Given the description of an element on the screen output the (x, y) to click on. 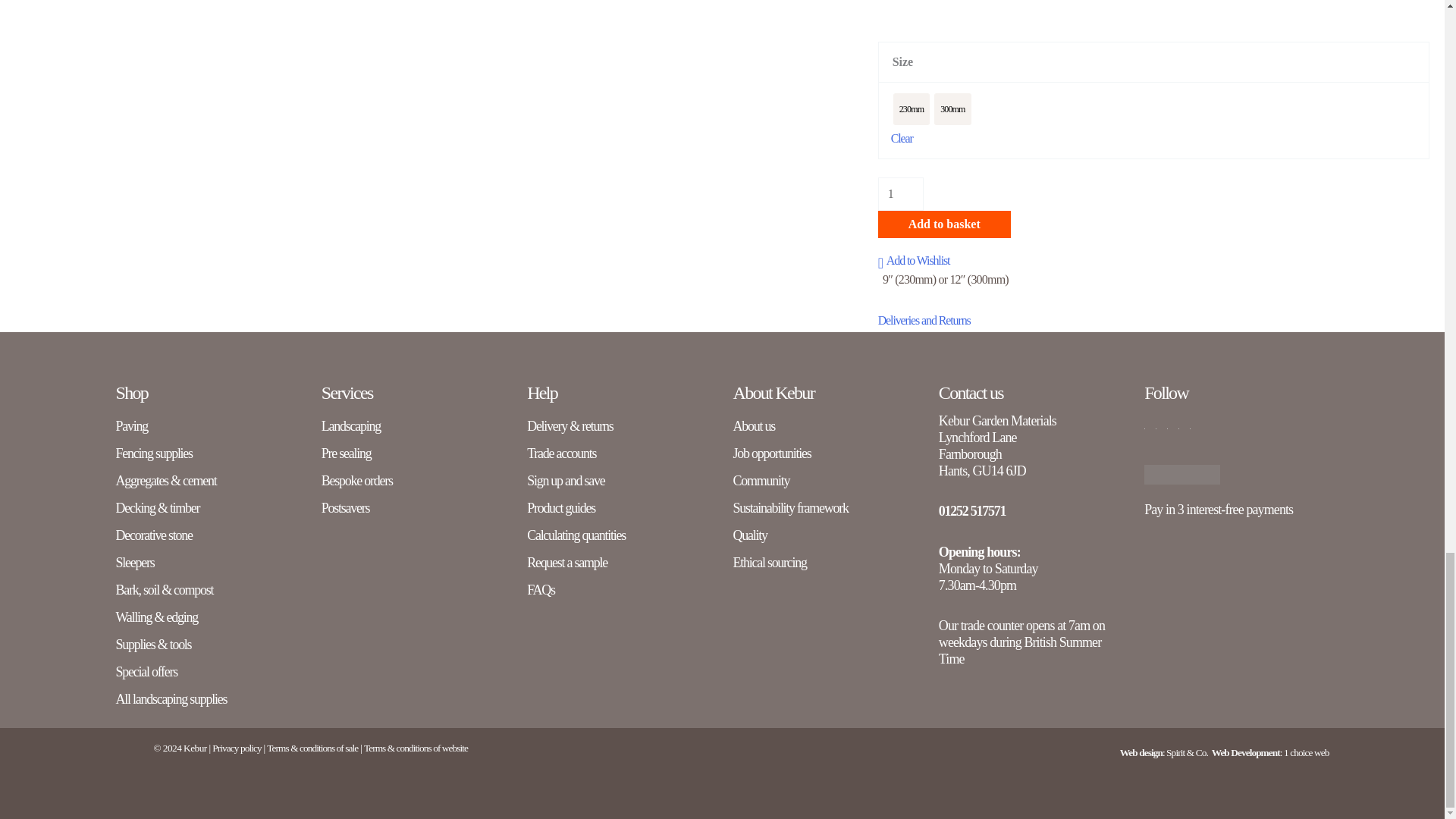
230mm (910, 109)
300mm (951, 109)
1 (900, 193)
